Given the description of an element on the screen output the (x, y) to click on. 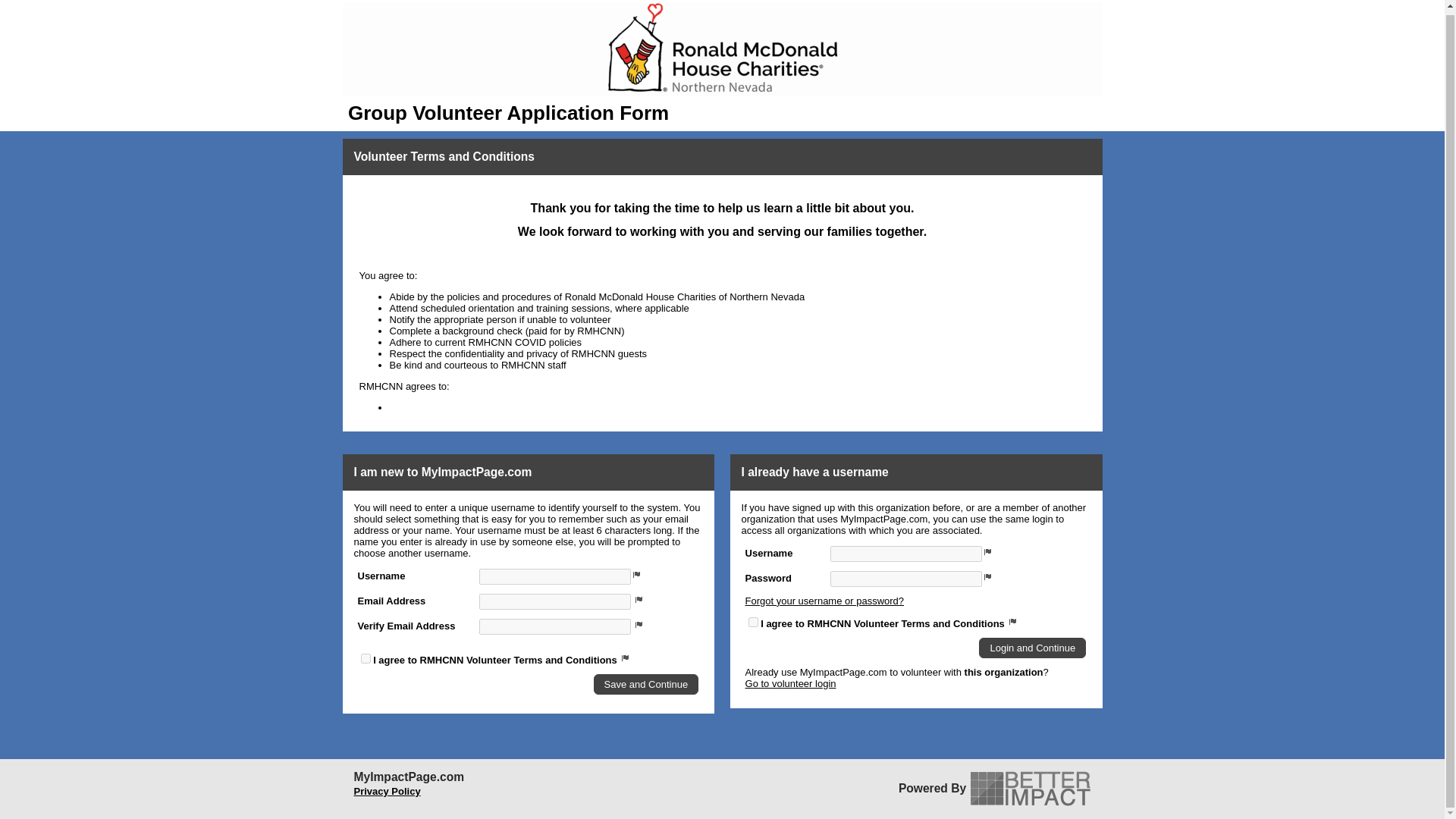
Login and Continue (1032, 648)
Required (639, 623)
Required (625, 657)
on (753, 621)
Save and Continue (646, 684)
Save and Continue (646, 684)
Required (987, 575)
Forgot your username or password? (824, 600)
on (366, 657)
Privacy Policy (386, 790)
Login and Continue (1032, 648)
Required (639, 598)
Required (636, 573)
Go to volunteer login (790, 683)
Required (987, 551)
